Given the description of an element on the screen output the (x, y) to click on. 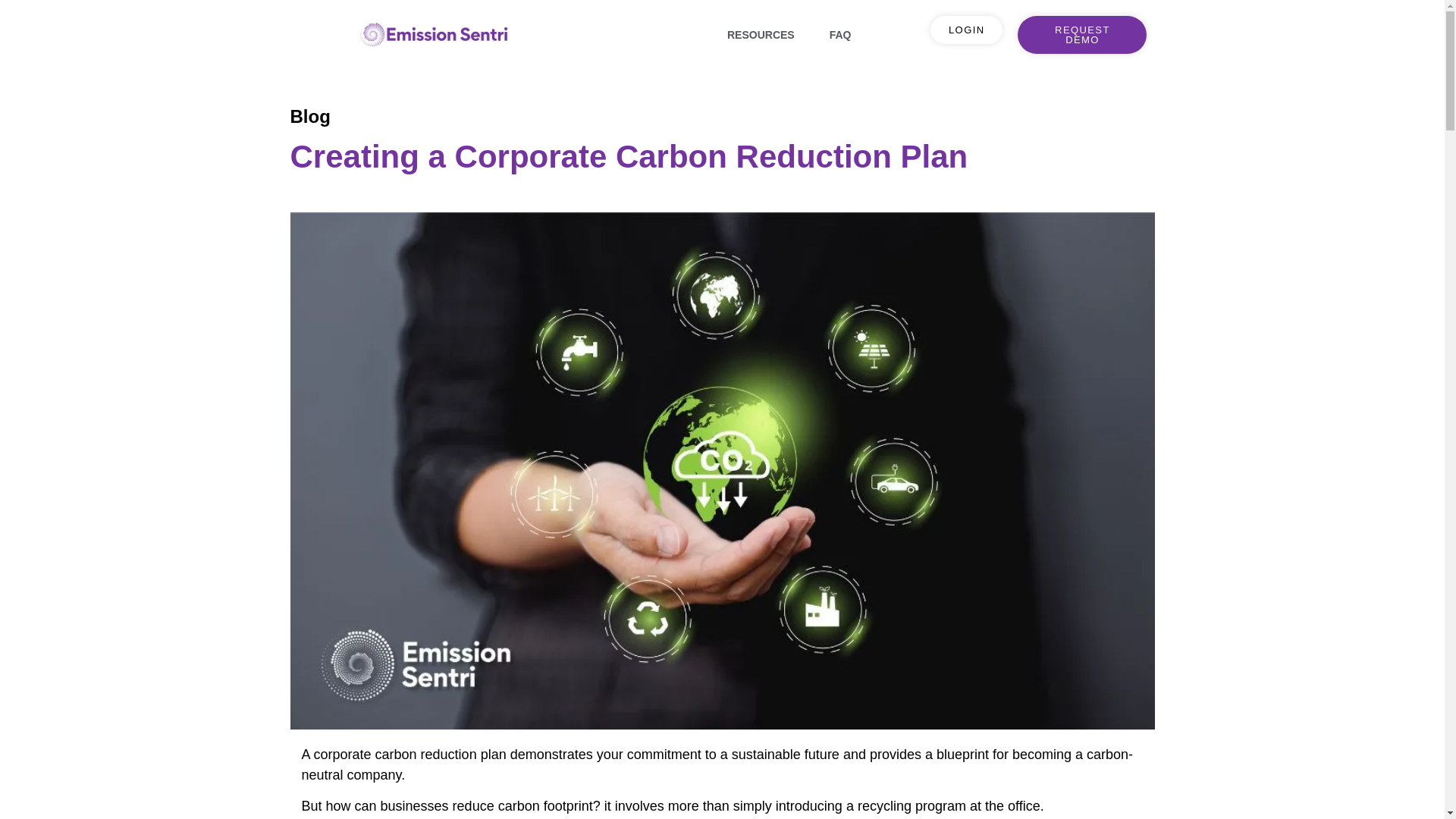
LOGIN (966, 29)
RESOURCES (760, 34)
REQUEST DEMO (1082, 34)
